Given the description of an element on the screen output the (x, y) to click on. 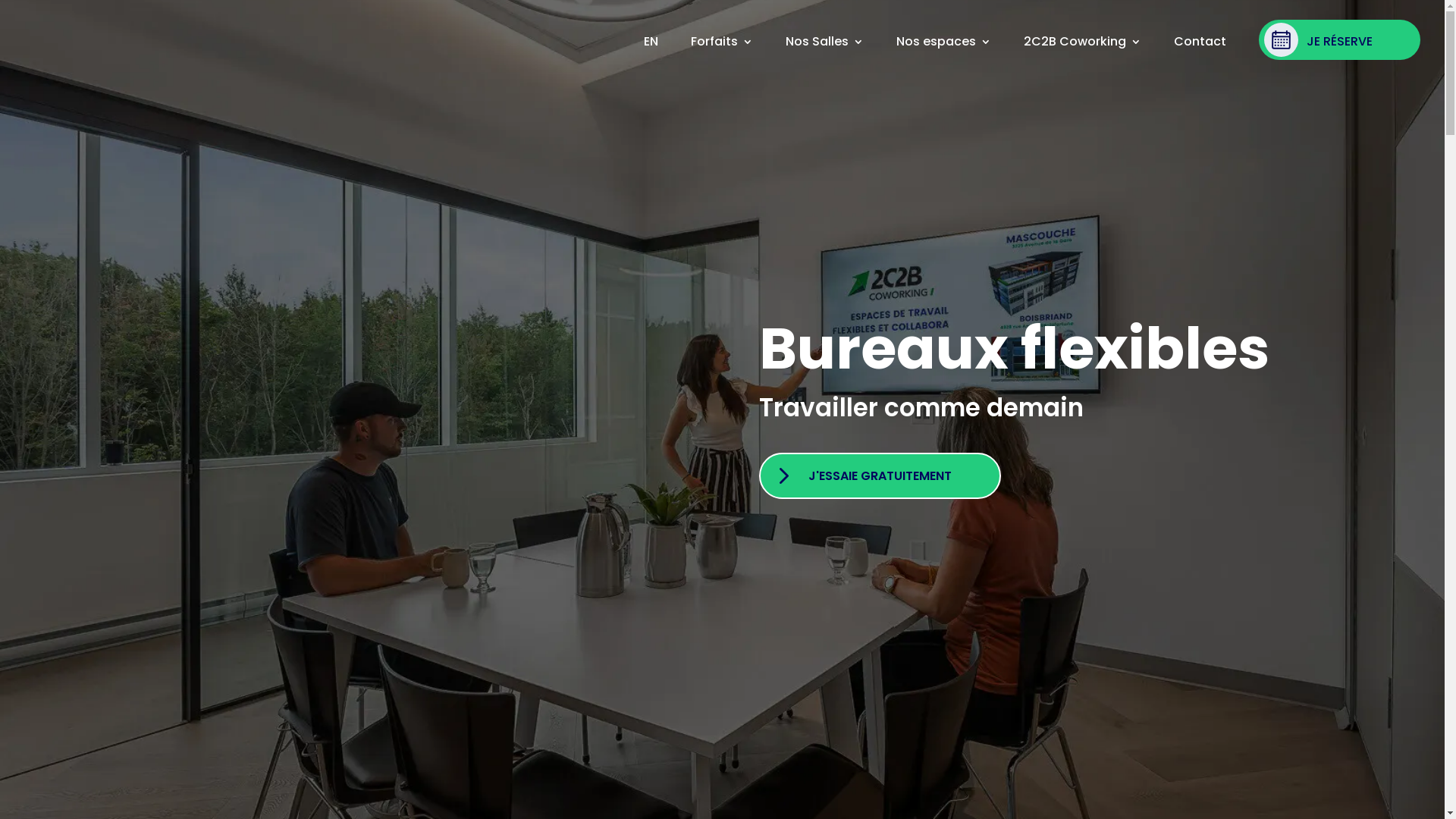
Nos Salles Element type: text (824, 41)
Forfaits Element type: text (721, 41)
Nos espaces Element type: text (943, 41)
2C2B Coworking Element type: text (1082, 41)
EN Element type: text (637, 38)
J'ESSAIE GRATUITEMENT Element type: text (879, 475)
Contact Element type: text (1199, 41)
